Given the description of an element on the screen output the (x, y) to click on. 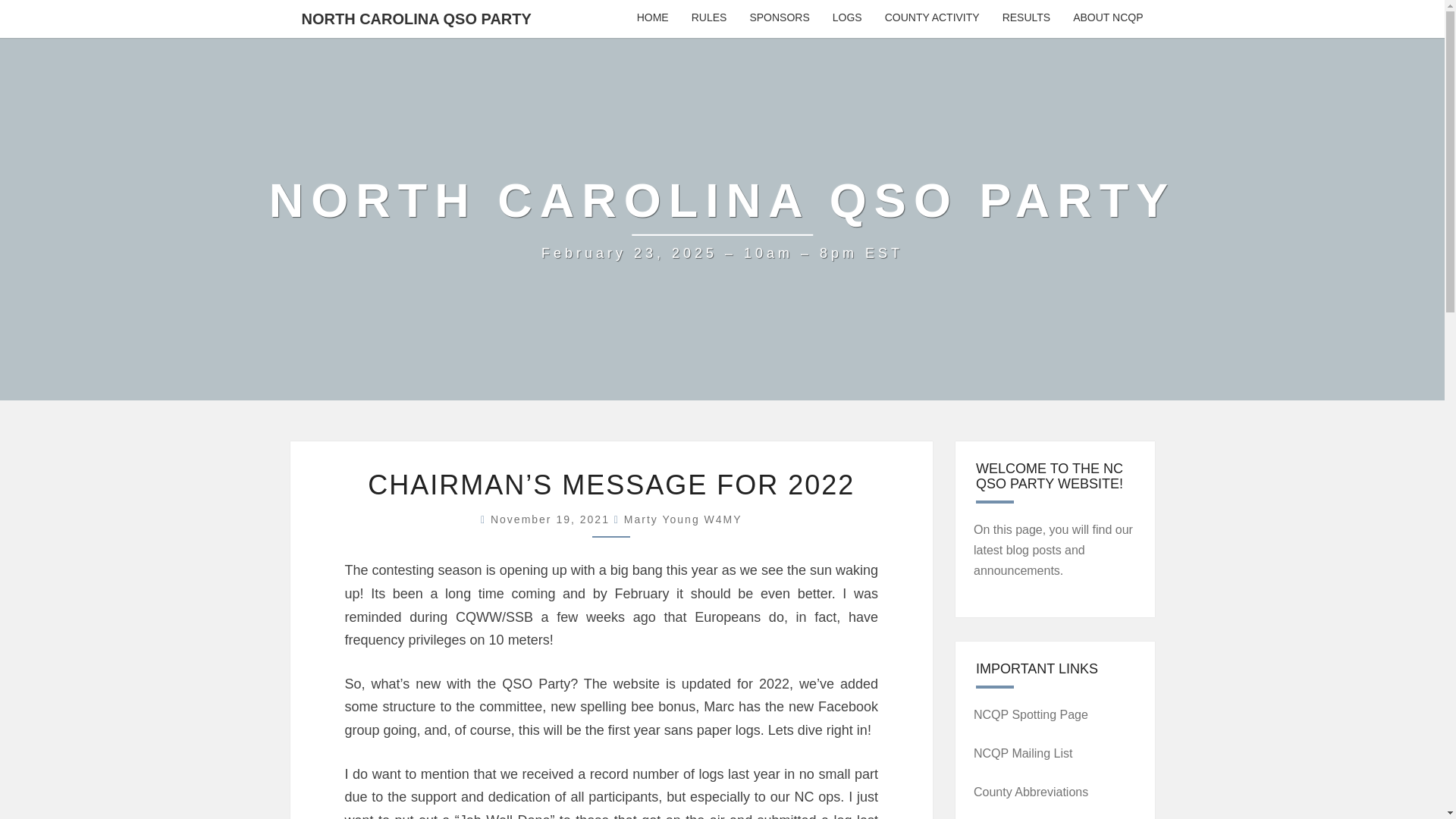
ABOUT NCQP (1107, 18)
NCQP Mailing List  (1024, 753)
RULES (708, 18)
November 19, 2021 (552, 519)
North Carolina QSO Party (722, 218)
COUNTY ACTIVITY (932, 18)
NORTH CAROLINA QSO PARTY (415, 18)
SPONSORS (779, 18)
LOGS (847, 18)
County Abbreviations (1030, 791)
Marty Young W4MY (683, 519)
NCQP Spotting Page (1030, 714)
RESULTS (1026, 18)
HOME (652, 18)
View all posts by Marty Young W4MY (683, 519)
